Given the description of an element on the screen output the (x, y) to click on. 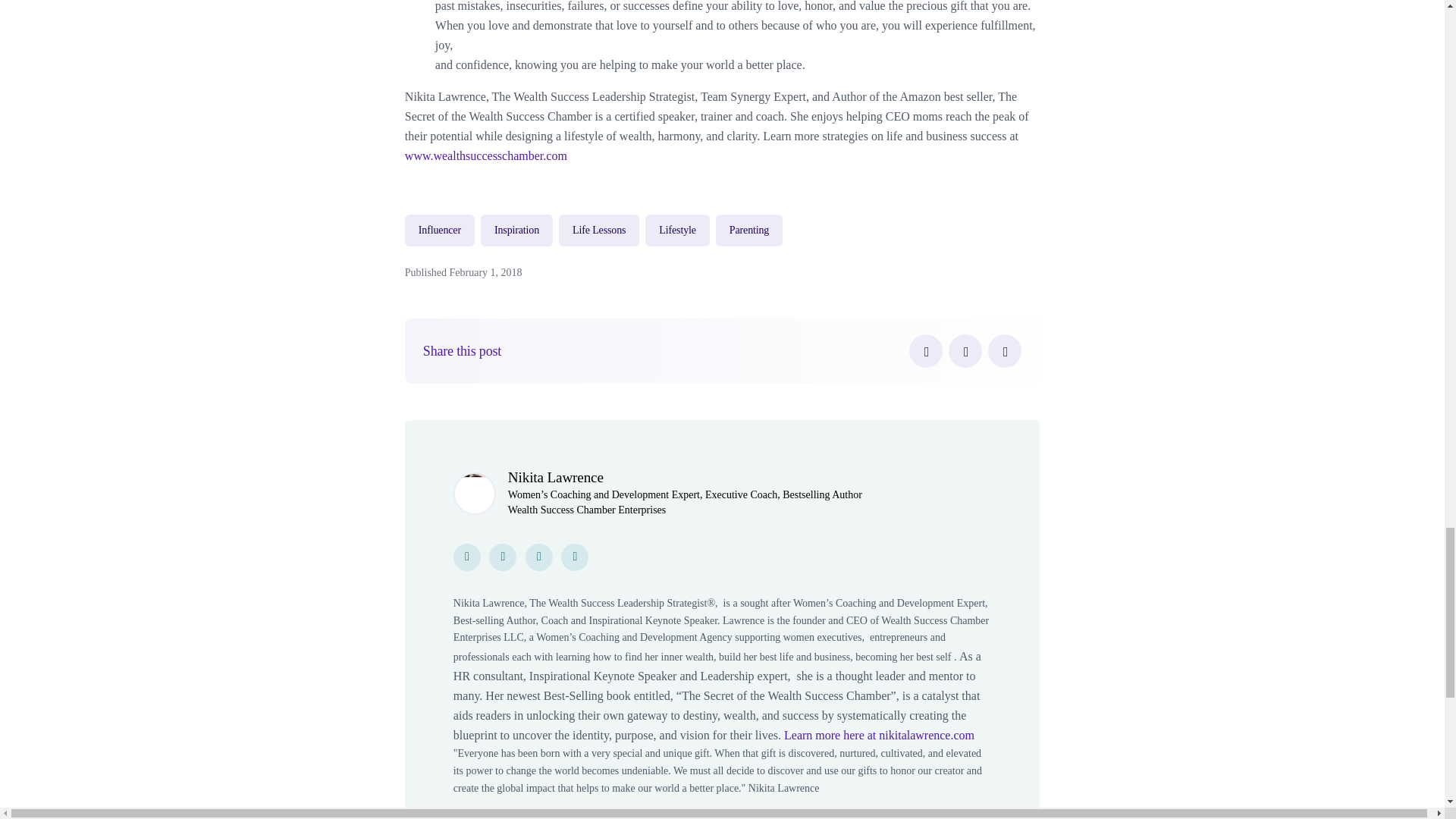
Twitter (965, 350)
Facebook (925, 350)
Nikita Lawrence (556, 477)
LinkedIn (1005, 350)
